Given the description of an element on the screen output the (x, y) to click on. 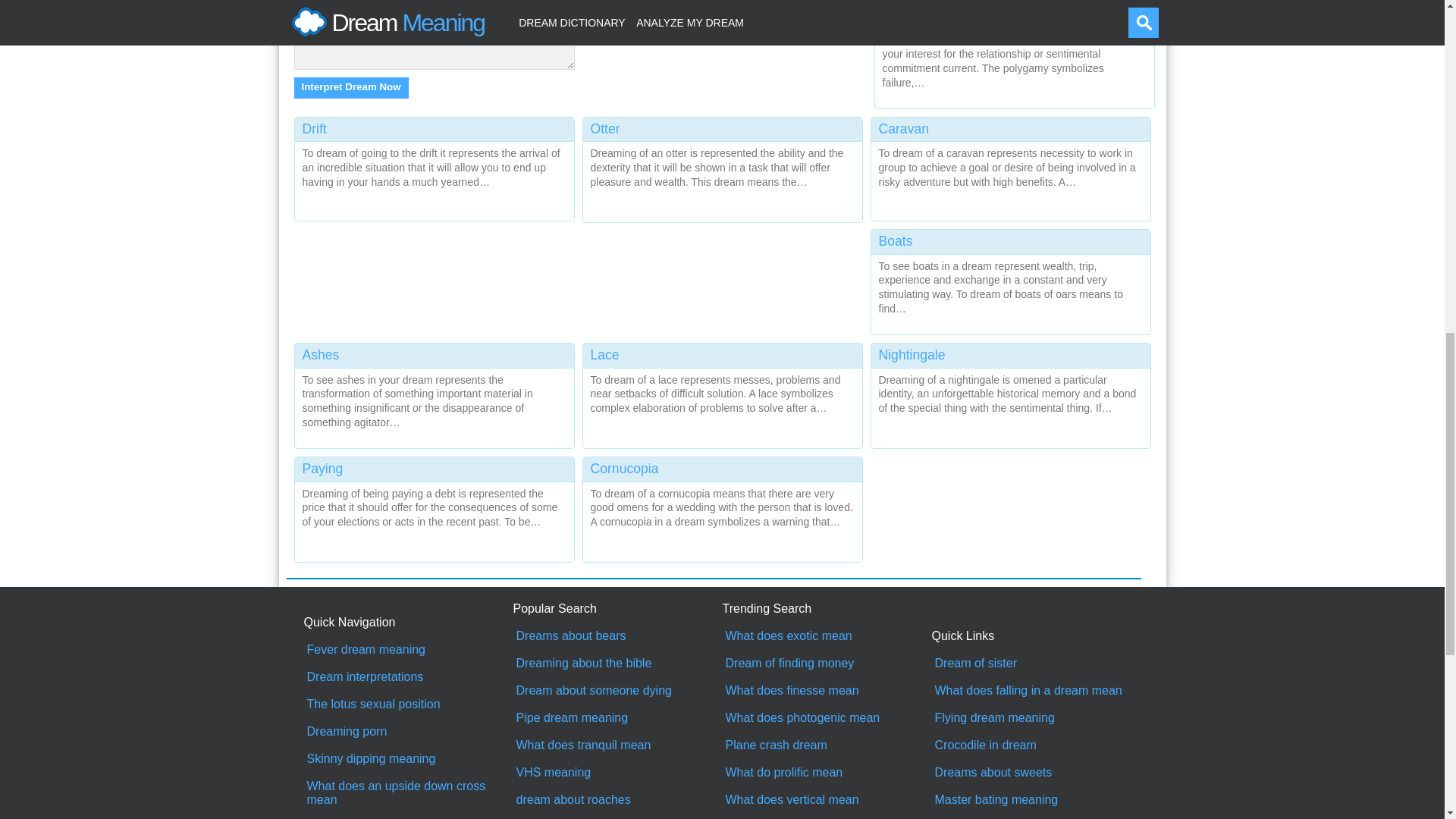
Lace Dream Meaning (721, 392)
What does tranquil mean (617, 745)
Otter Dream Meaning (721, 166)
Dream about someone dying (617, 690)
Polygamy Dream Meaning (1014, 52)
Dreaming porn (407, 731)
Fever dream meaning (407, 649)
Boats Dream Meaning (1010, 278)
dream about roaches (617, 799)
Ashes Dream Meaning (433, 392)
Paying Dream Meaning (433, 506)
Drift Dream Meaning (433, 166)
Dream interpretations (407, 676)
Caravan Dream Meaning (1010, 166)
Interpret Dream Now (351, 87)
